Given the description of an element on the screen output the (x, y) to click on. 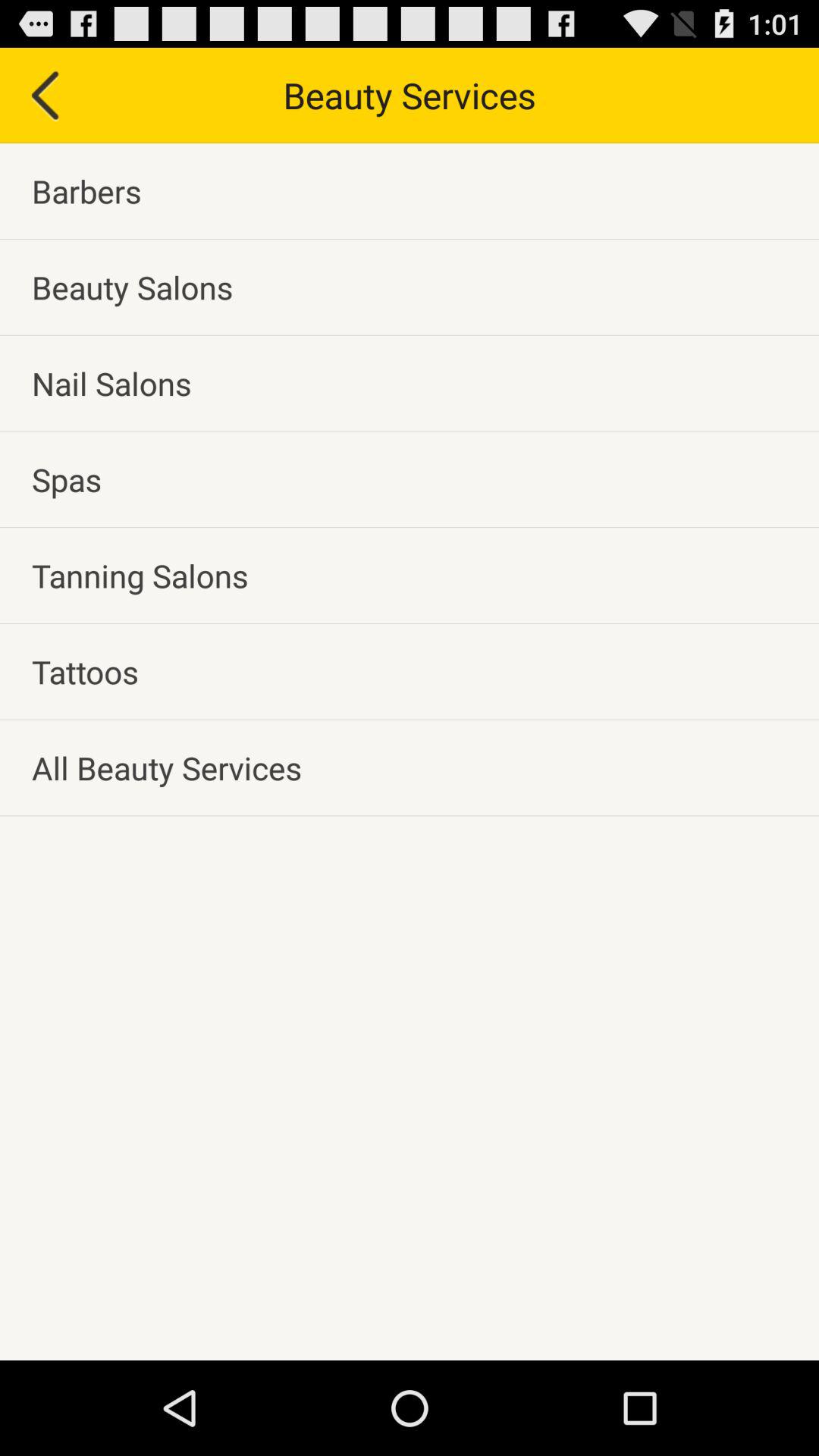
go back (43, 95)
